Given the description of an element on the screen output the (x, y) to click on. 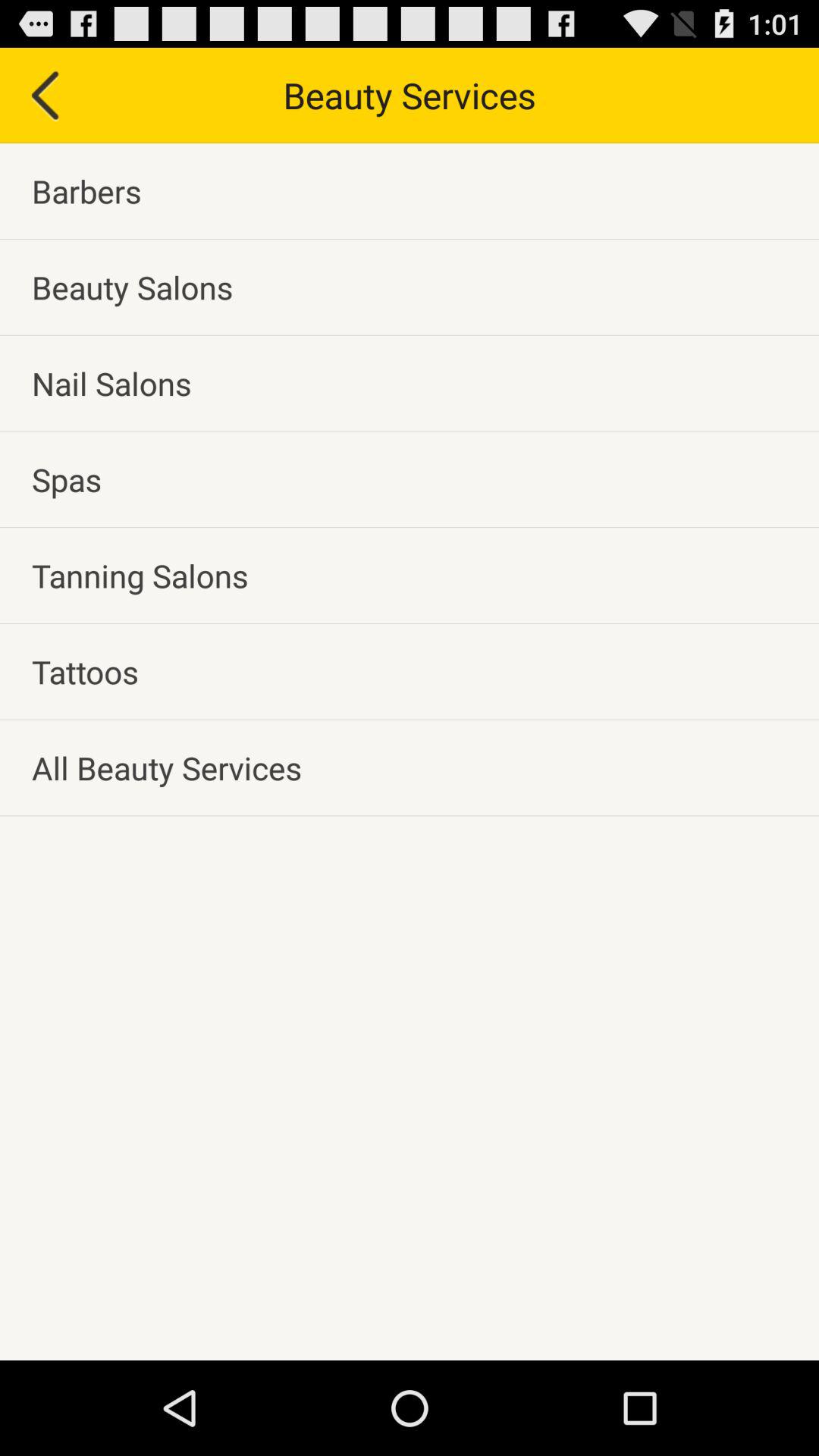
go back (43, 95)
